Given the description of an element on the screen output the (x, y) to click on. 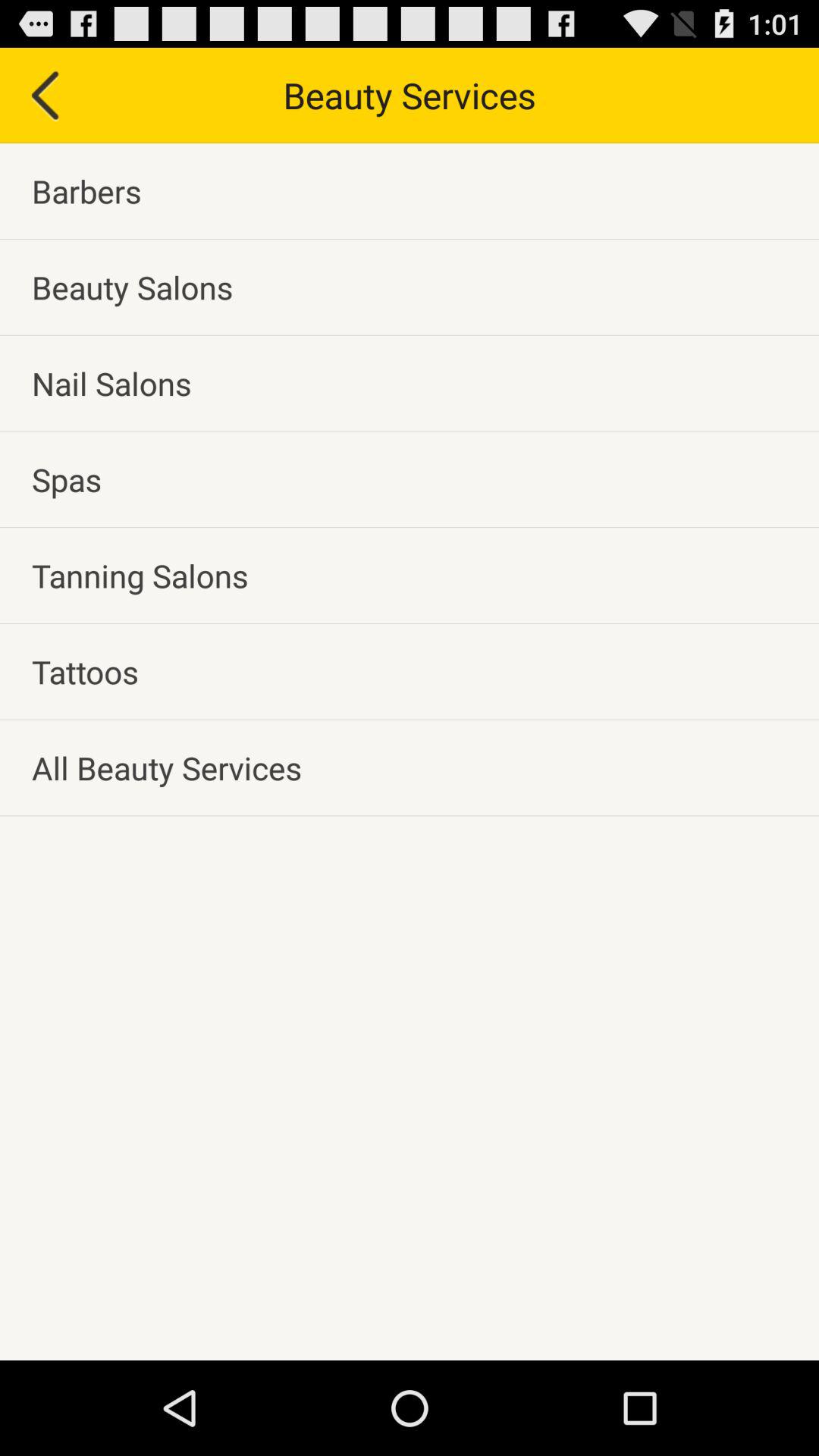
go back (43, 95)
